Given the description of an element on the screen output the (x, y) to click on. 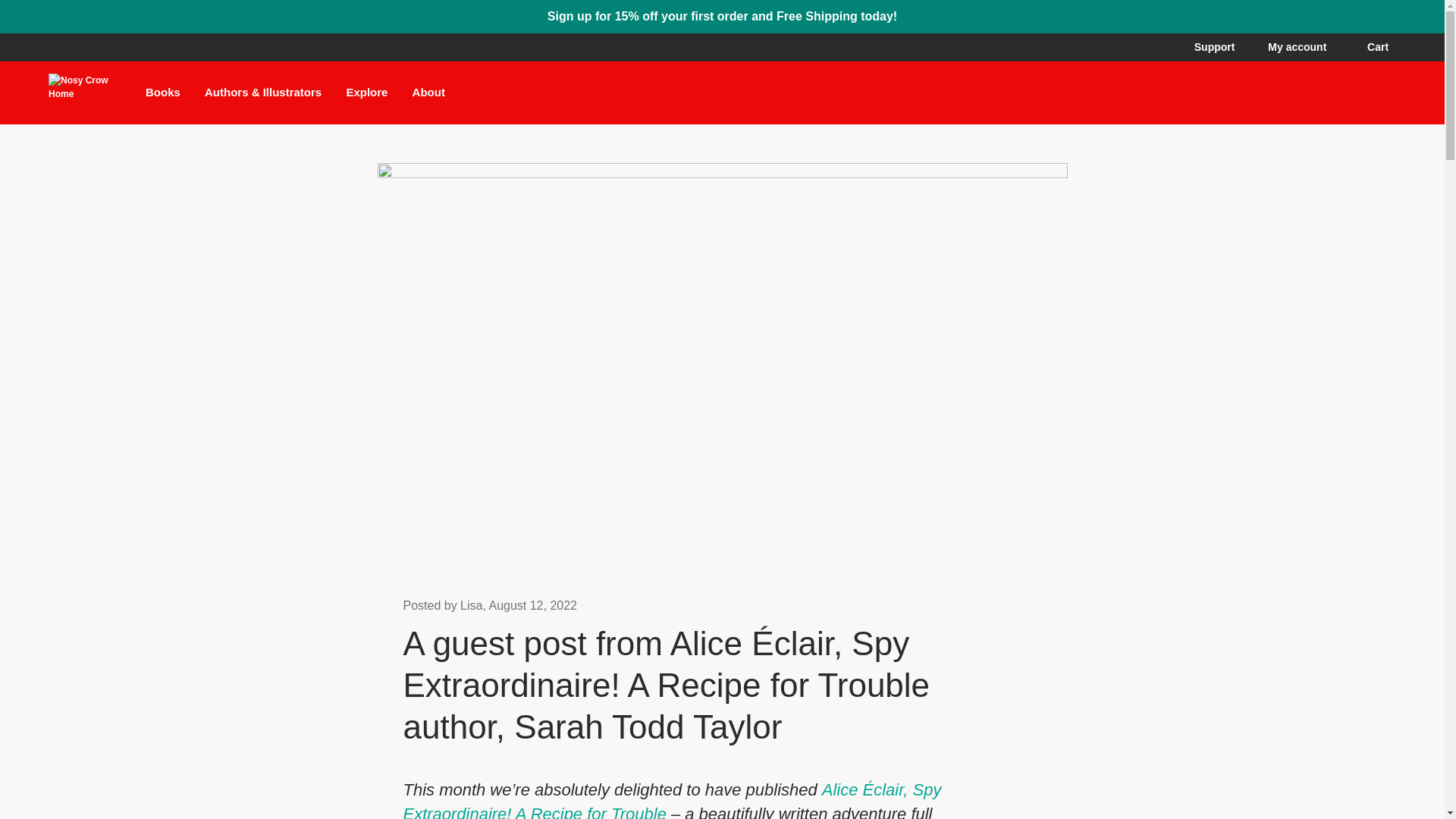
Skip to content (75, 12)
Support (1213, 46)
My account (1300, 46)
Books (162, 91)
Cart (1381, 46)
